Given the description of an element on the screen output the (x, y) to click on. 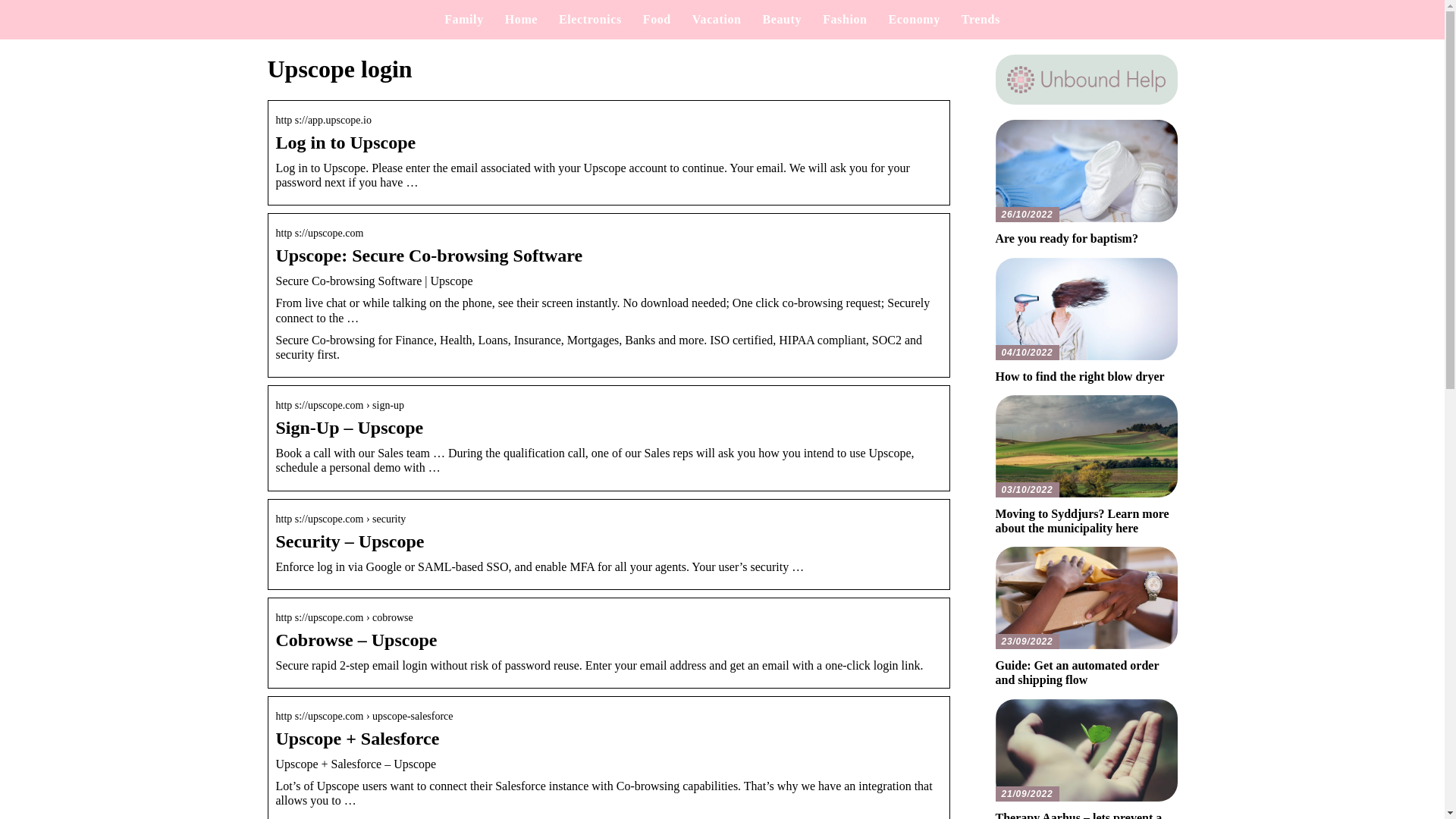
Fashion (844, 19)
Vacation (717, 19)
Economy (914, 19)
Beauty (782, 19)
Food (657, 19)
Trends (980, 19)
Family (463, 19)
Home (521, 19)
Electronics (590, 19)
